Given the description of an element on the screen output the (x, y) to click on. 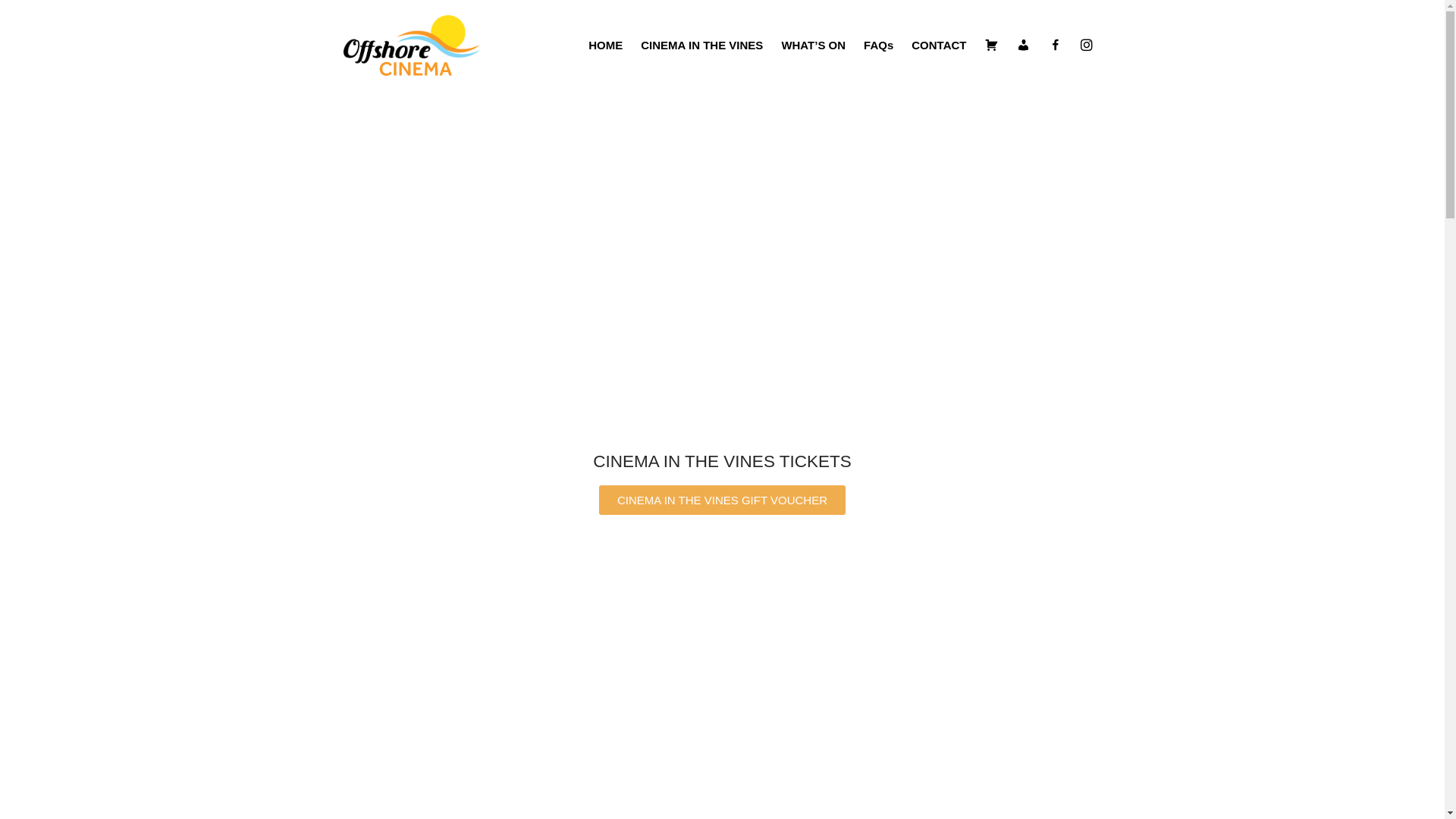
Cart Element type: text (990, 45)
Facebook Element type: text (1054, 45)
FAQs Element type: text (878, 45)
CINEMA IN THE VINES GIFT VOUCHER Element type: text (722, 499)
Account Element type: text (1022, 45)
HOME Element type: text (605, 45)
Offshore cinema Element type: text (541, 54)
CINEMA IN THE VINES Element type: text (701, 45)
instagram Element type: text (1085, 45)
CONTACT Element type: text (938, 45)
